Given the description of an element on the screen output the (x, y) to click on. 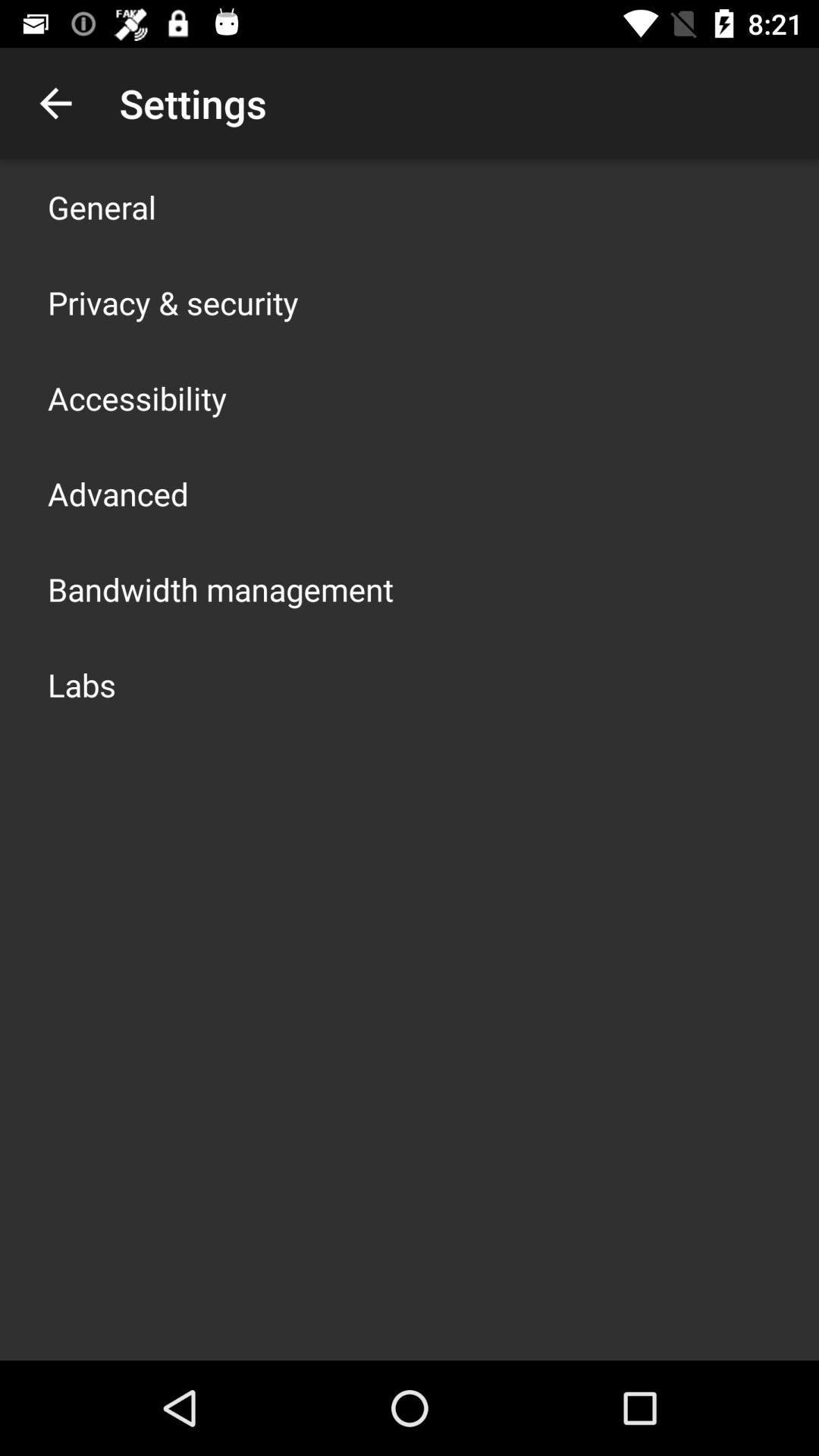
launch the app to the left of the settings icon (55, 103)
